Given the description of an element on the screen output the (x, y) to click on. 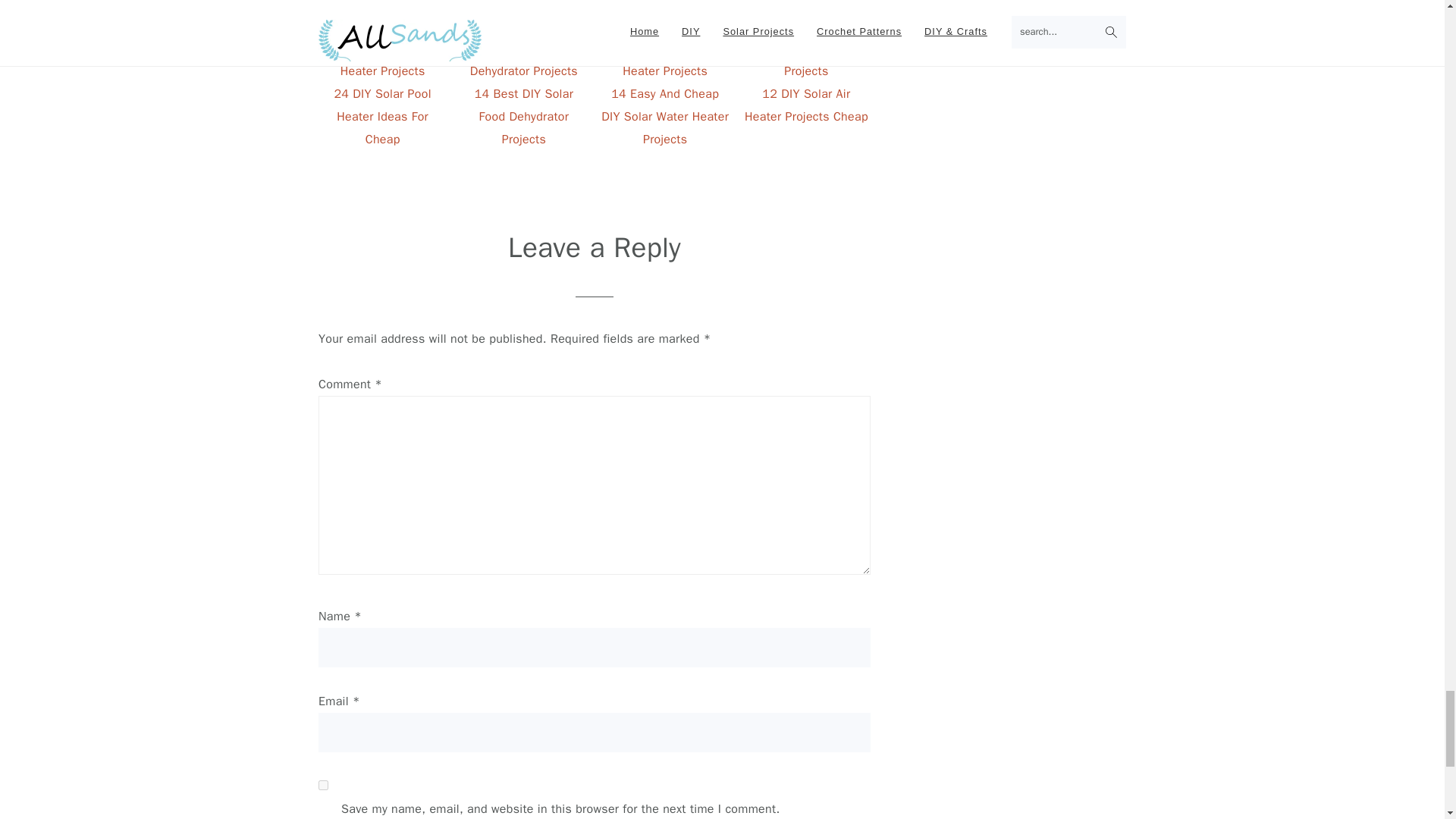
14 Best DIY Solar Food Dehydrator Projects (524, 93)
12 DIY Solar Air Heater Projects Cheap (806, 93)
14 Easy And Cheap DIY Solar Water Heater Projects (664, 93)
yes (323, 785)
24 DIY Solar Pool Heater Ideas For Cheap (382, 93)
